Given the description of an element on the screen output the (x, y) to click on. 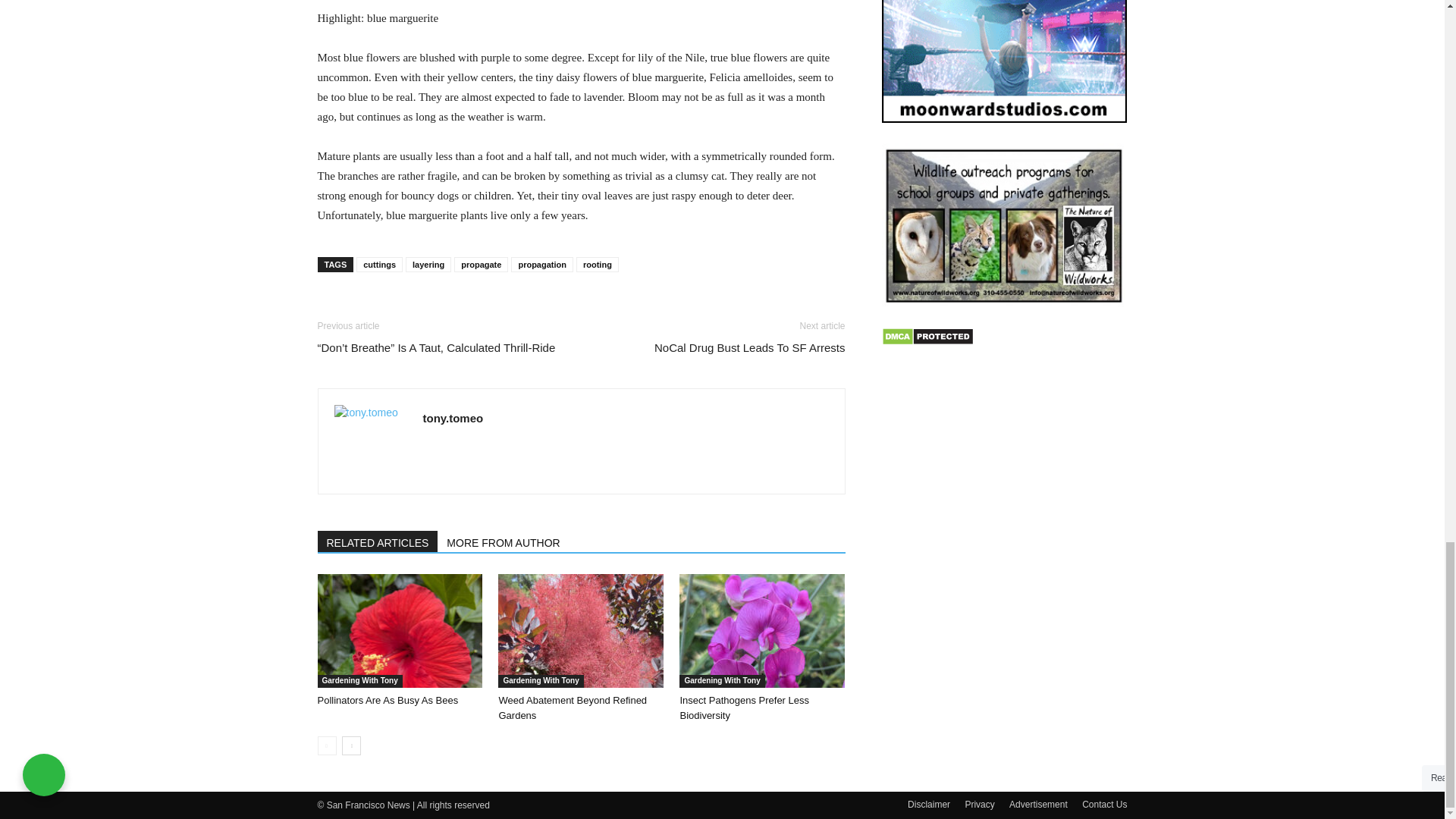
Weed Abatement Beyond Refined Gardens (580, 630)
Pollinators Are As Busy As Bees (387, 699)
Insect Pathogens Prefer Less Biodiversity (744, 707)
Insect Pathogens Prefer Less Biodiversity (761, 630)
Weed Abatement Beyond Refined Gardens (571, 707)
bottomFacebookLike (430, 305)
Pollinators Are As Busy As Bees (399, 630)
DMCA.com Protection Status (926, 341)
